Given the description of an element on the screen output the (x, y) to click on. 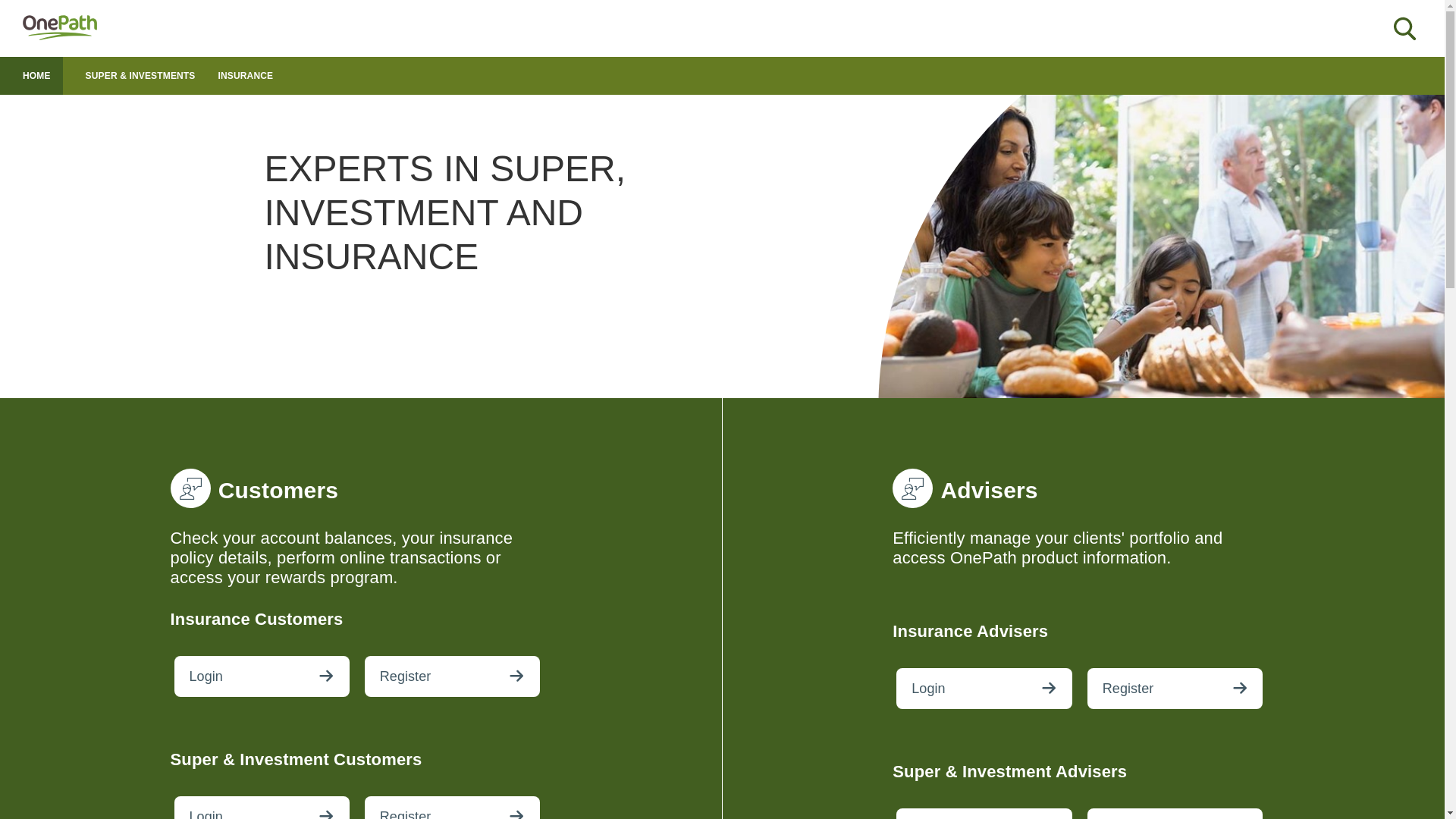
Register Element type: text (451, 675)
SUPER & INVESTMENTS Element type: text (140, 75)
HOME Element type: text (36, 75)
Register Element type: text (1174, 688)
Login Element type: text (983, 688)
INSURANCE Element type: text (245, 75)
Login Element type: text (261, 675)
